Given the description of an element on the screen output the (x, y) to click on. 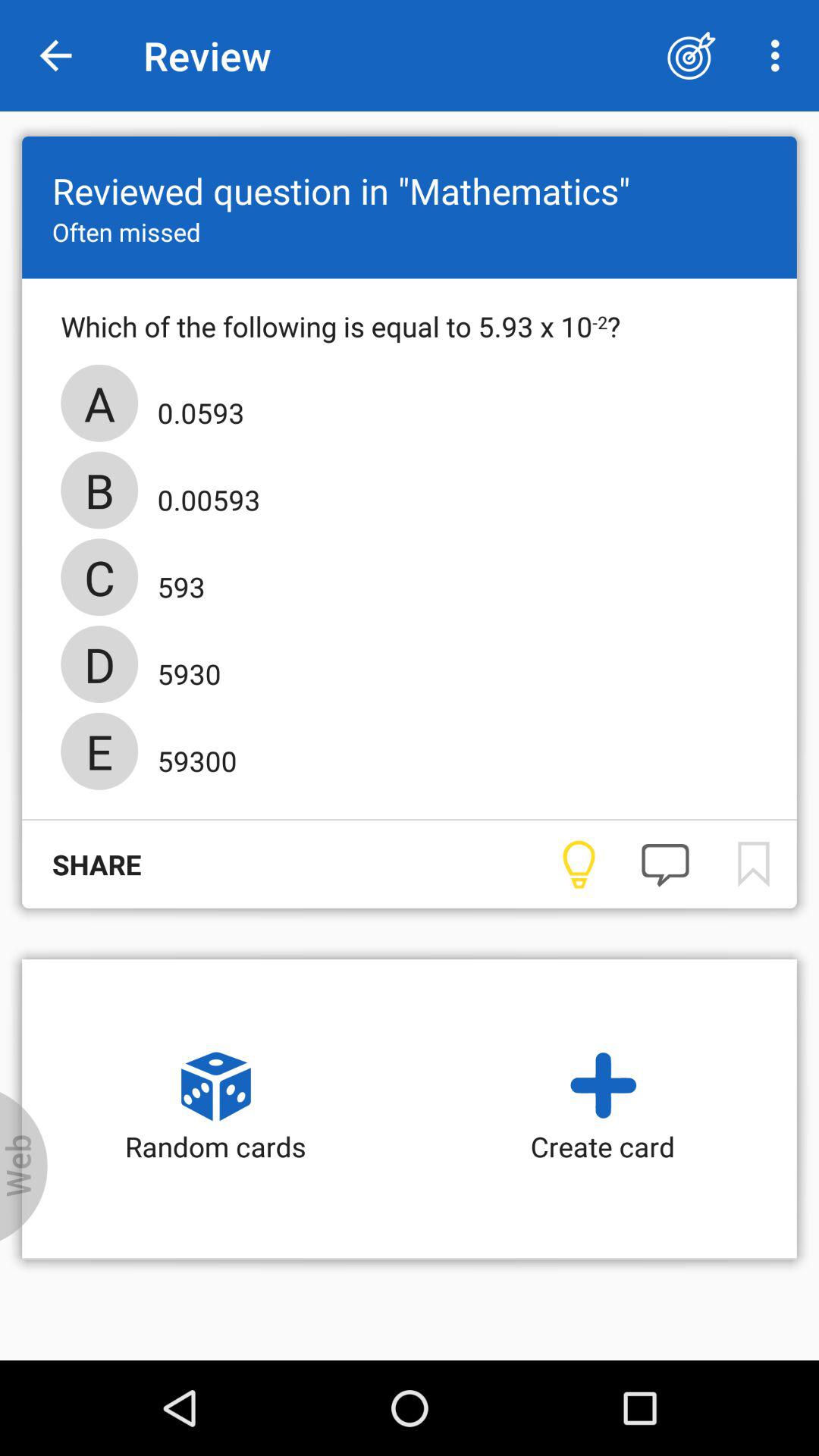
select item to the left of the review item (55, 55)
